Given the description of an element on the screen output the (x, y) to click on. 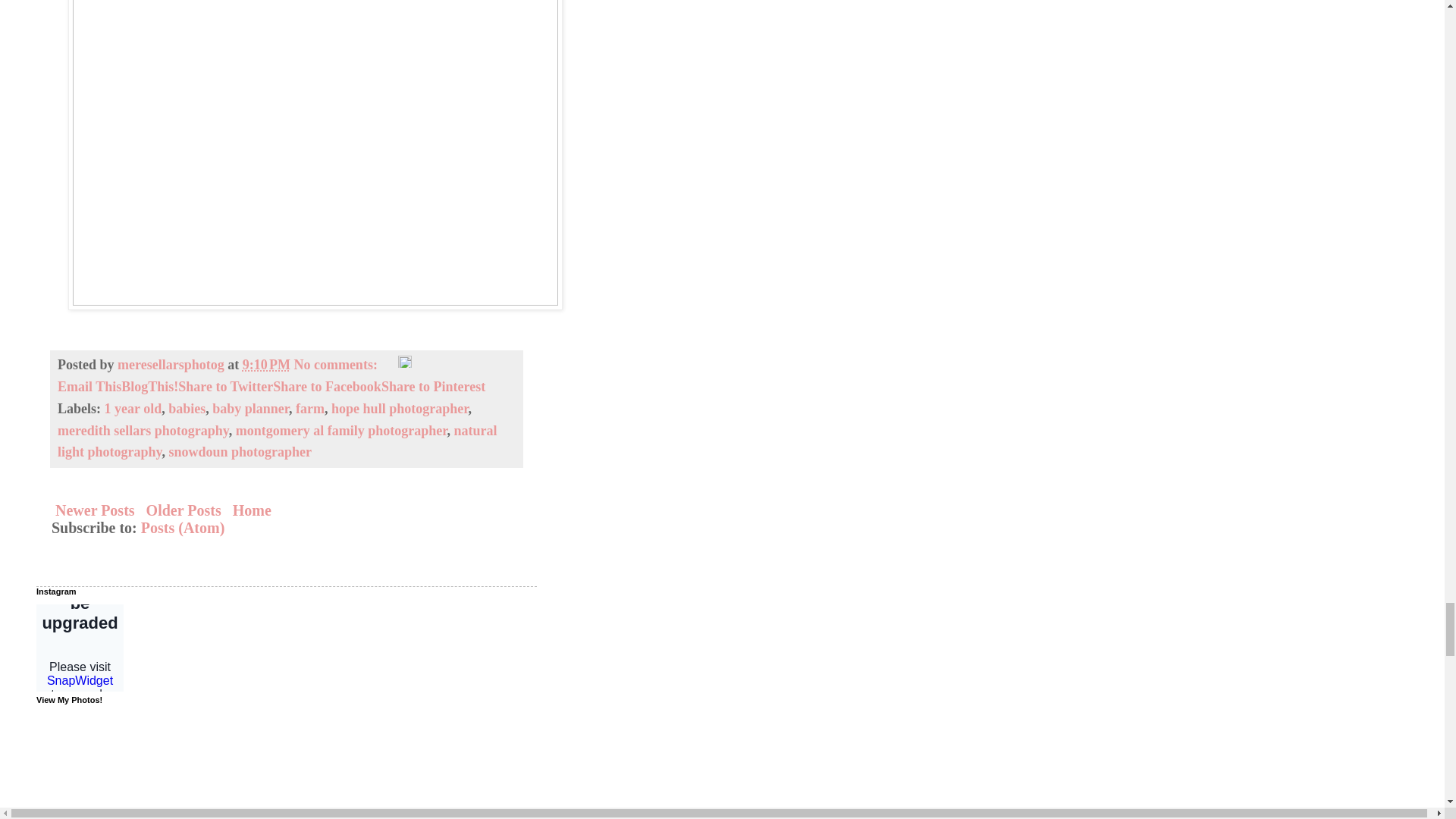
Share to Pinterest (432, 386)
BlogThis! (148, 386)
permanent link (266, 364)
Older Posts (183, 509)
Share to Twitter (225, 386)
Email Post (388, 364)
author profile (172, 364)
Edit Post (404, 364)
No comments: (337, 364)
Email This (89, 386)
Share to Facebook (327, 386)
meresellarsphotog (172, 364)
Newer Posts (94, 509)
